Given the description of an element on the screen output the (x, y) to click on. 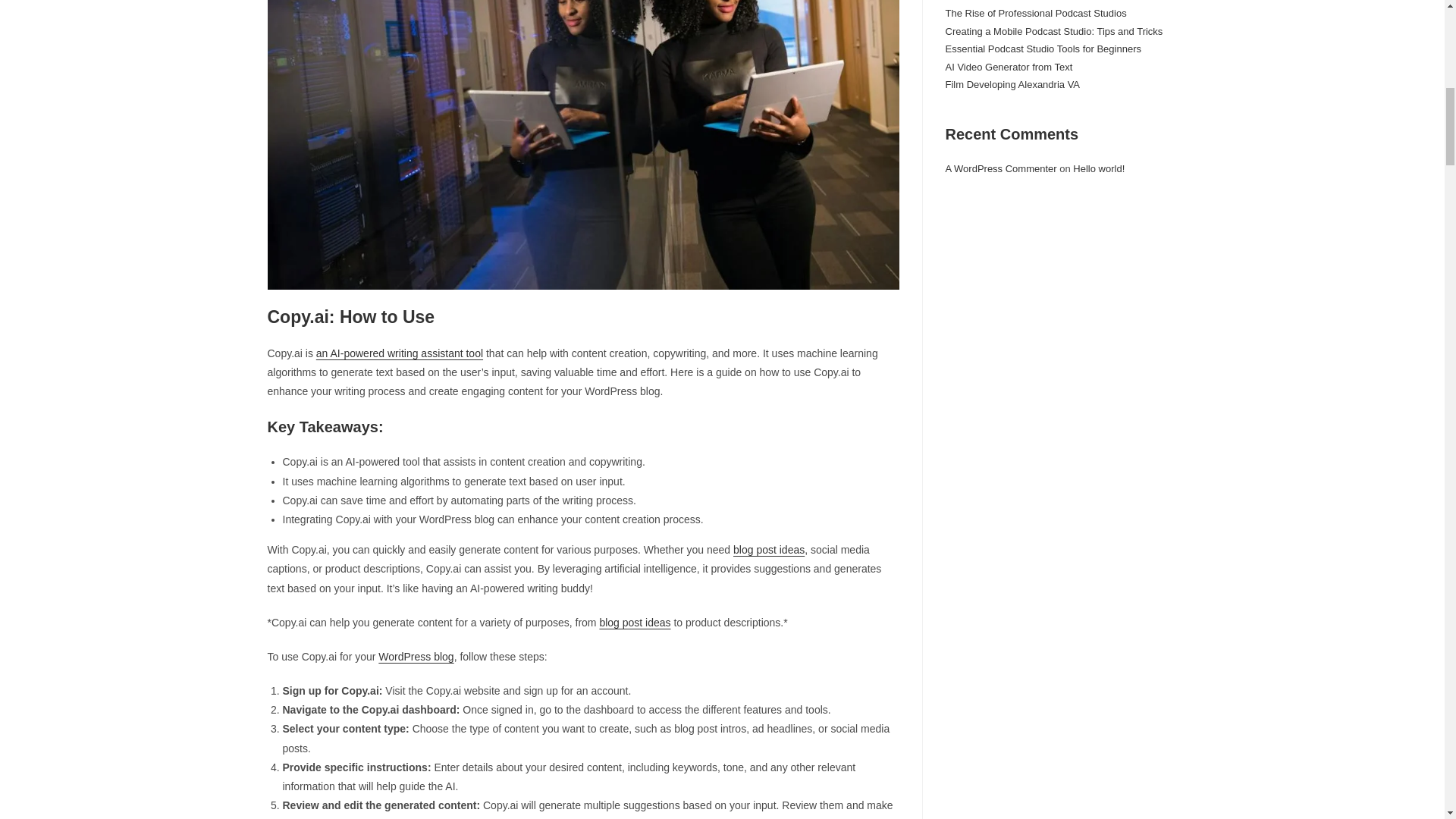
an AI-powered writing assistant tool (399, 353)
blog post ideas (769, 549)
blog post ideas (633, 622)
WordPress blog (415, 656)
